Given the description of an element on the screen output the (x, y) to click on. 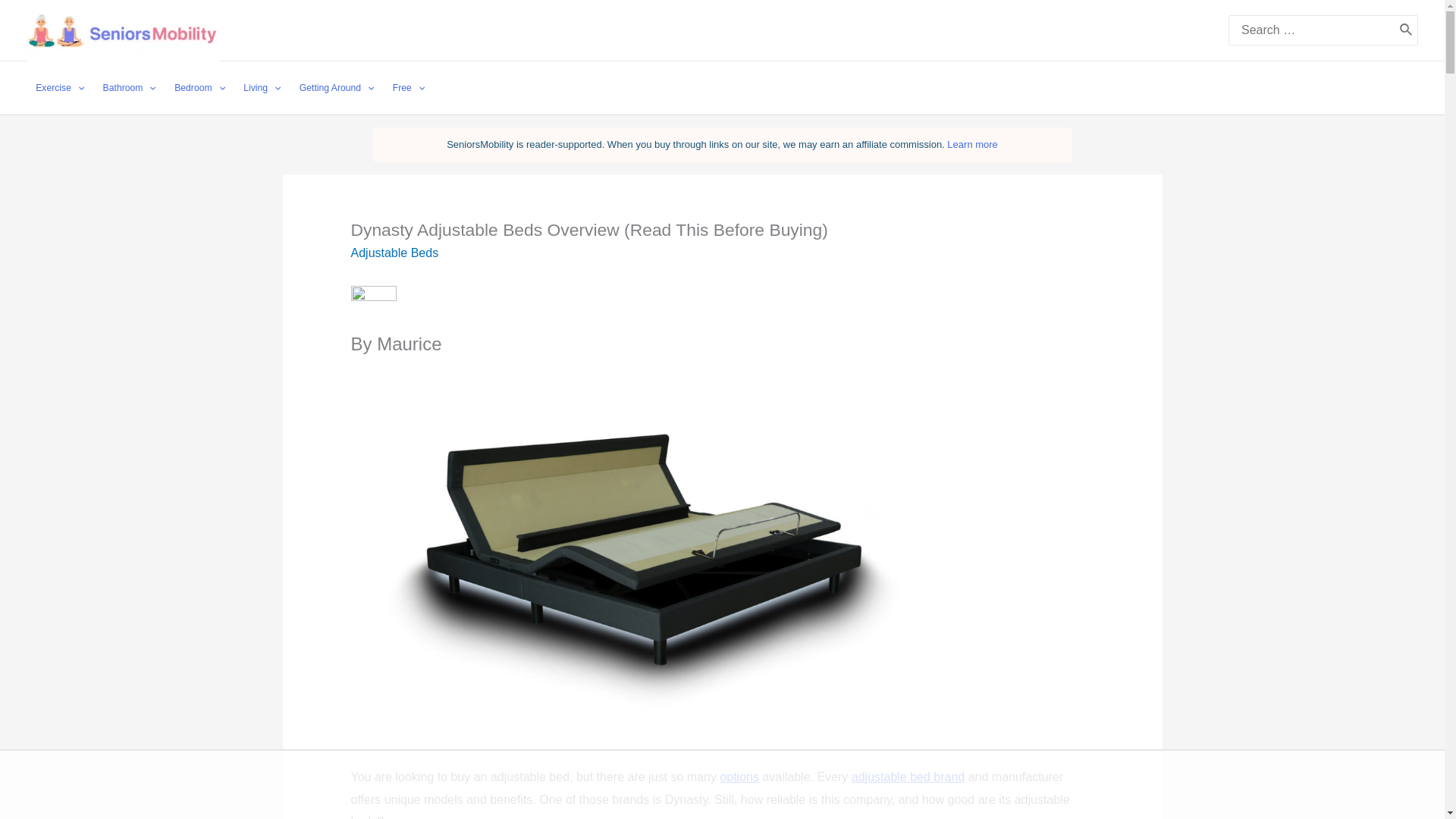
Living (261, 87)
Getting Around (336, 87)
Bathroom (129, 87)
Bedroom (199, 87)
Exercise (59, 87)
Free (408, 87)
